Given the description of an element on the screen output the (x, y) to click on. 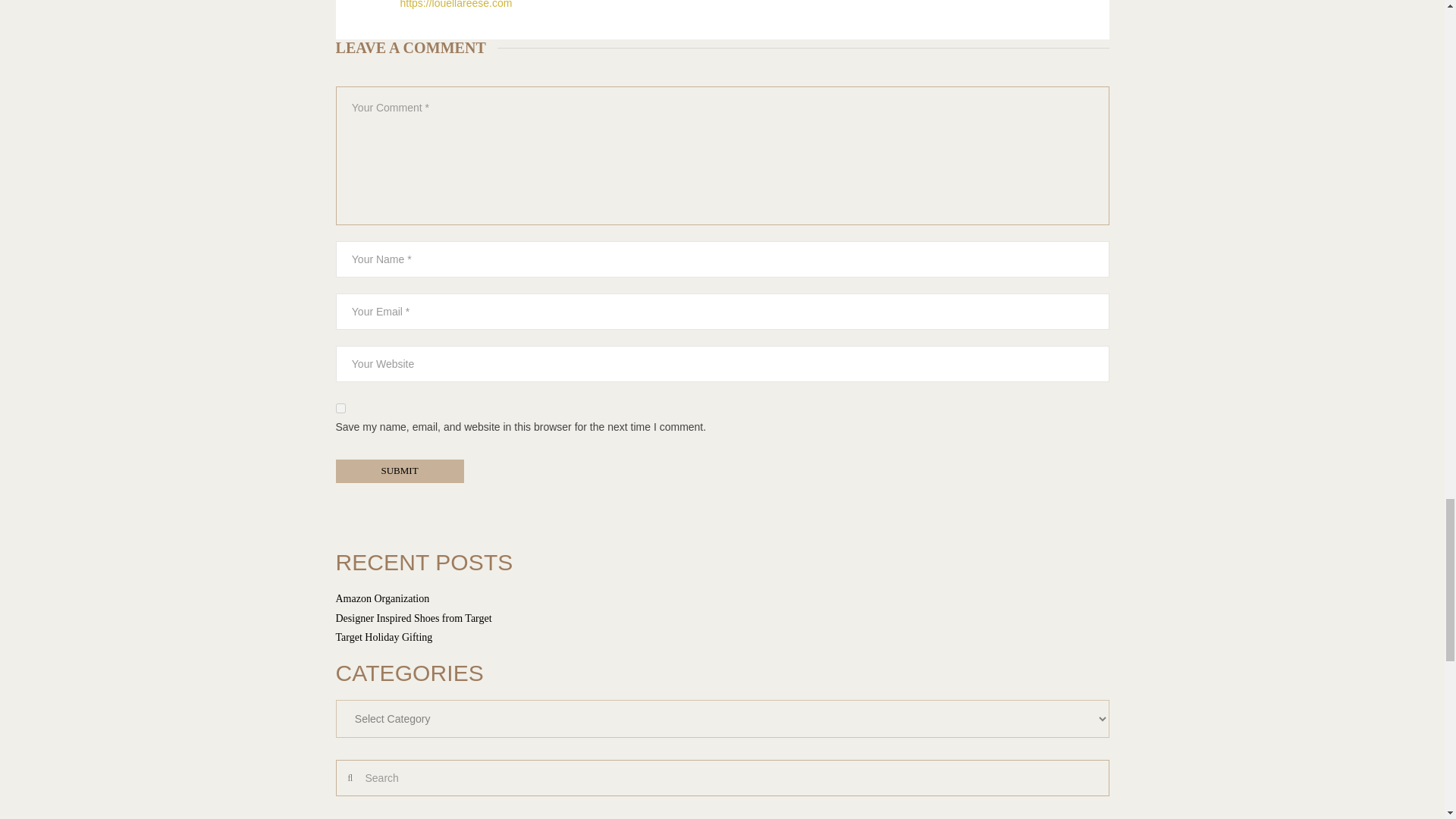
Submit (398, 471)
yes (339, 408)
